Given the description of an element on the screen output the (x, y) to click on. 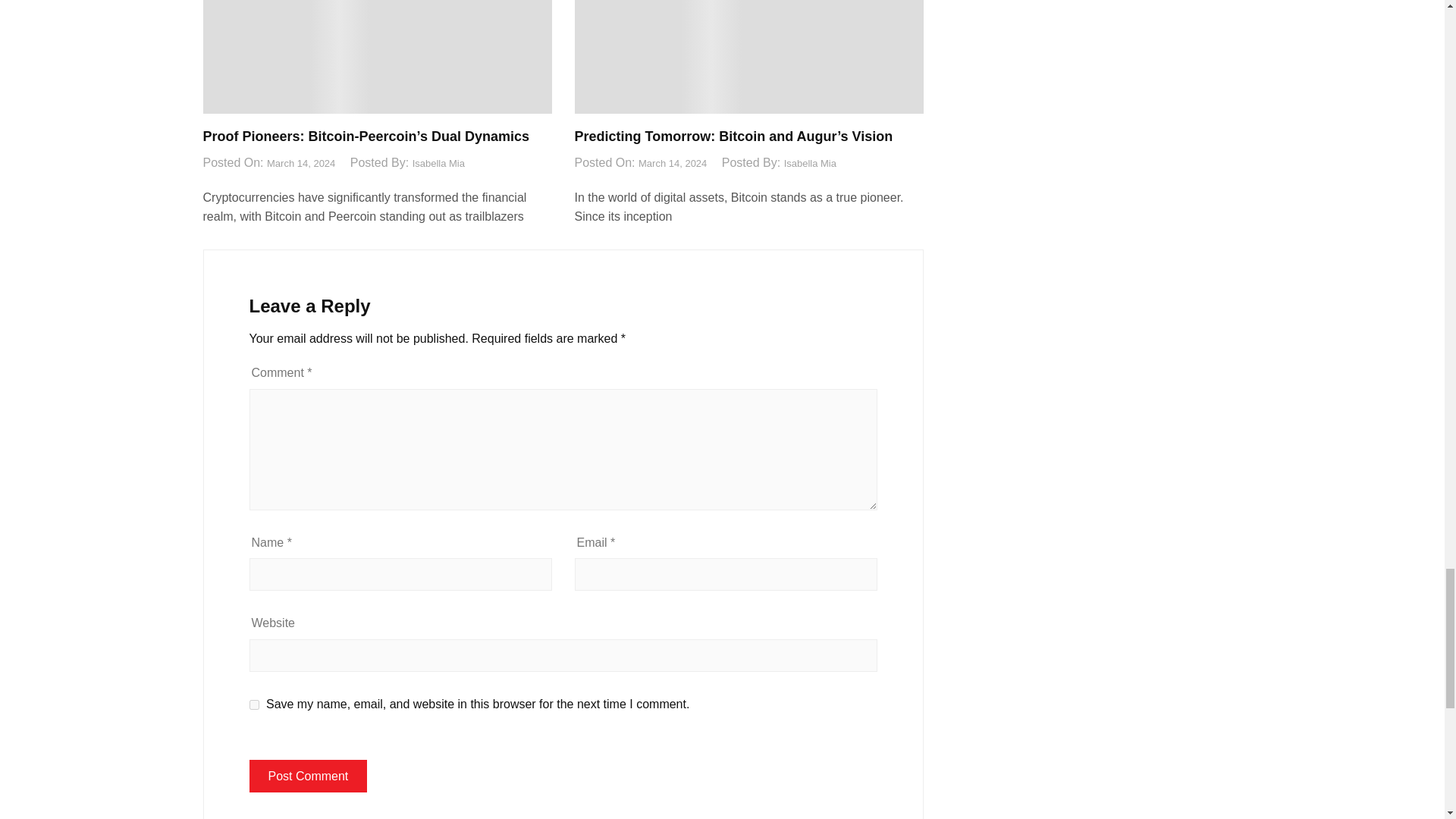
Post Comment (307, 776)
yes (253, 705)
